Given the description of an element on the screen output the (x, y) to click on. 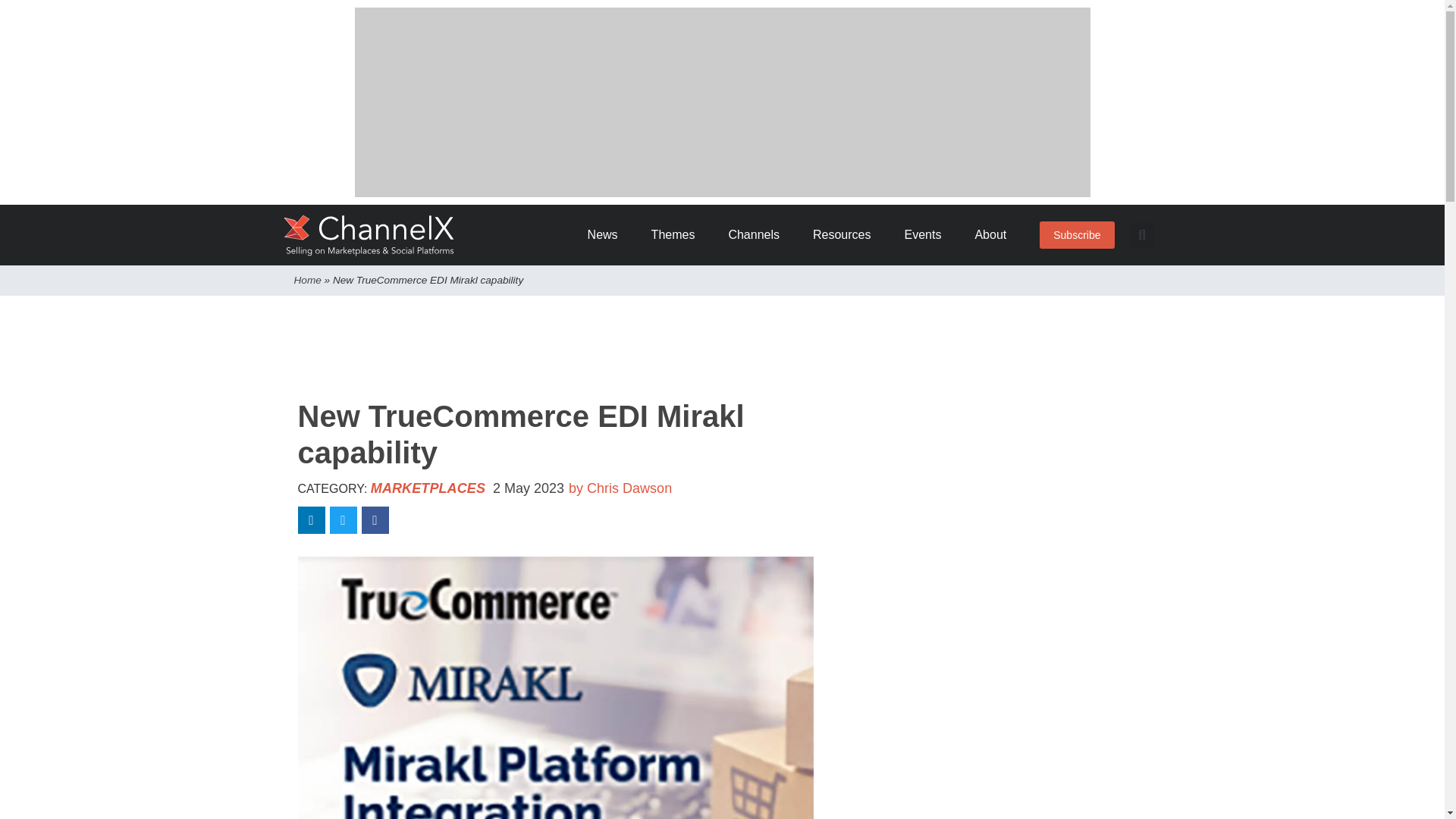
News (607, 234)
Themes (678, 234)
Channels (758, 234)
ChannelX Home Page (369, 234)
Resources (846, 234)
